Given the description of an element on the screen output the (x, y) to click on. 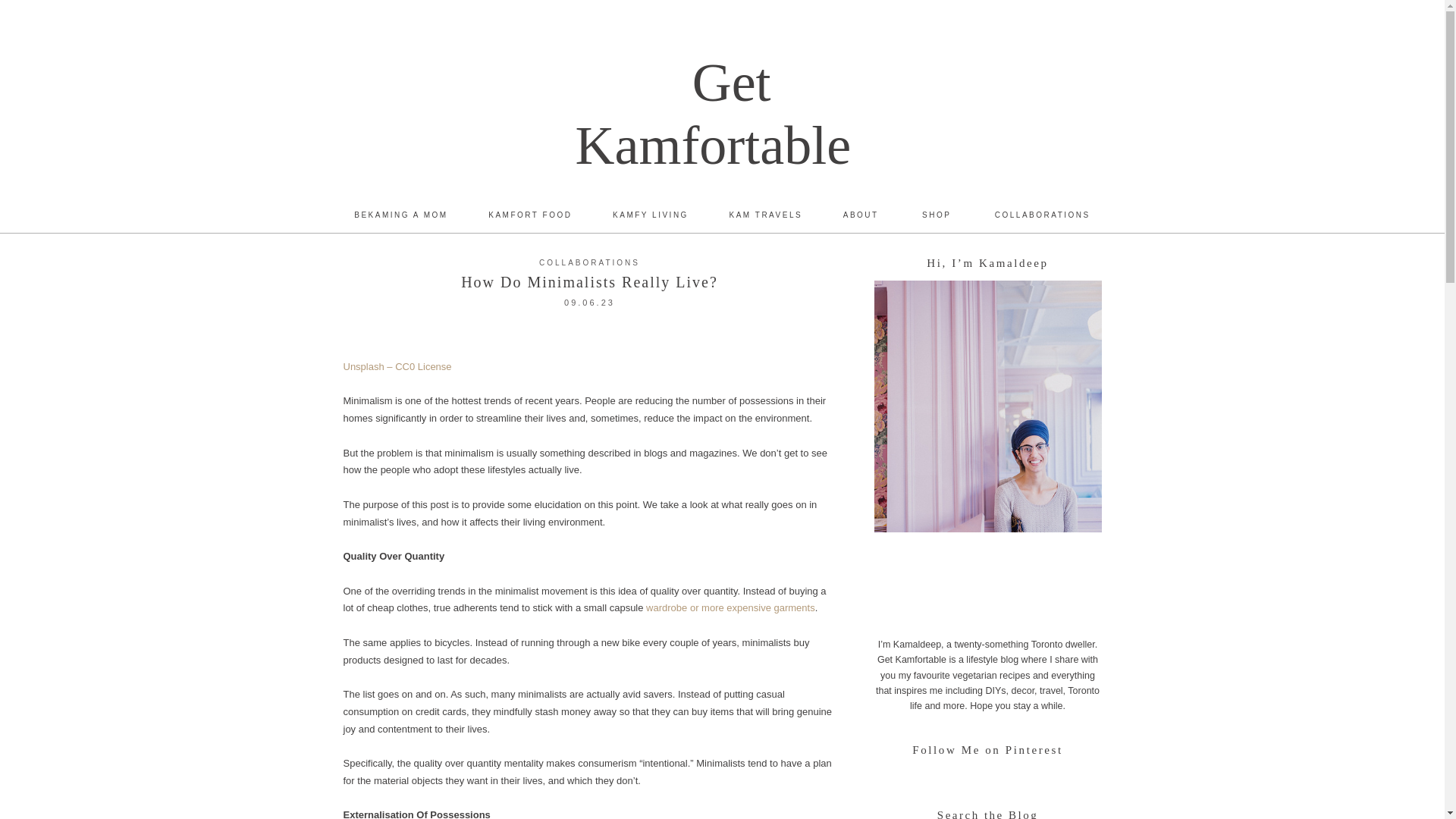
BEKAMING A MOM (399, 214)
How Do Minimalists Really Live? (589, 281)
Search the Blog (986, 807)
COLLABORATIONS (1042, 214)
wardrobe or more expensive garments (730, 607)
Get Kamfortable (722, 114)
SHOP (935, 214)
KAMFY LIVING (650, 214)
KAM TRAVELS (766, 214)
Search the Blog (74, 13)
KAMFORT FOOD (529, 214)
ABOUT (861, 214)
COLLABORATIONS (589, 261)
Search the Blog (986, 807)
Who is Kam? (861, 214)
